Given the description of an element on the screen output the (x, y) to click on. 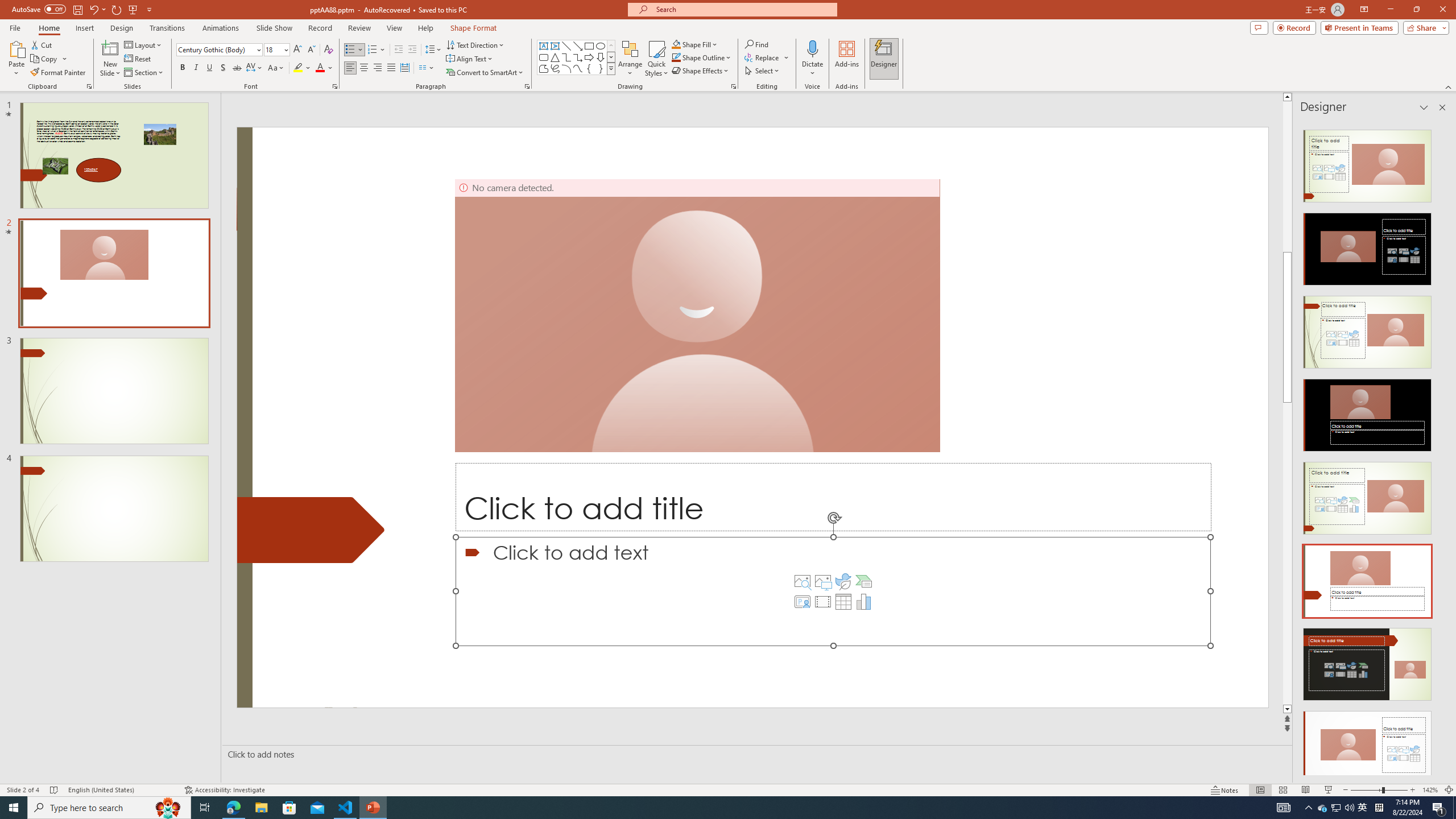
Shape Outline Teal, Accent 1 (675, 56)
Zoom 142% (1430, 790)
